Given the description of an element on the screen output the (x, y) to click on. 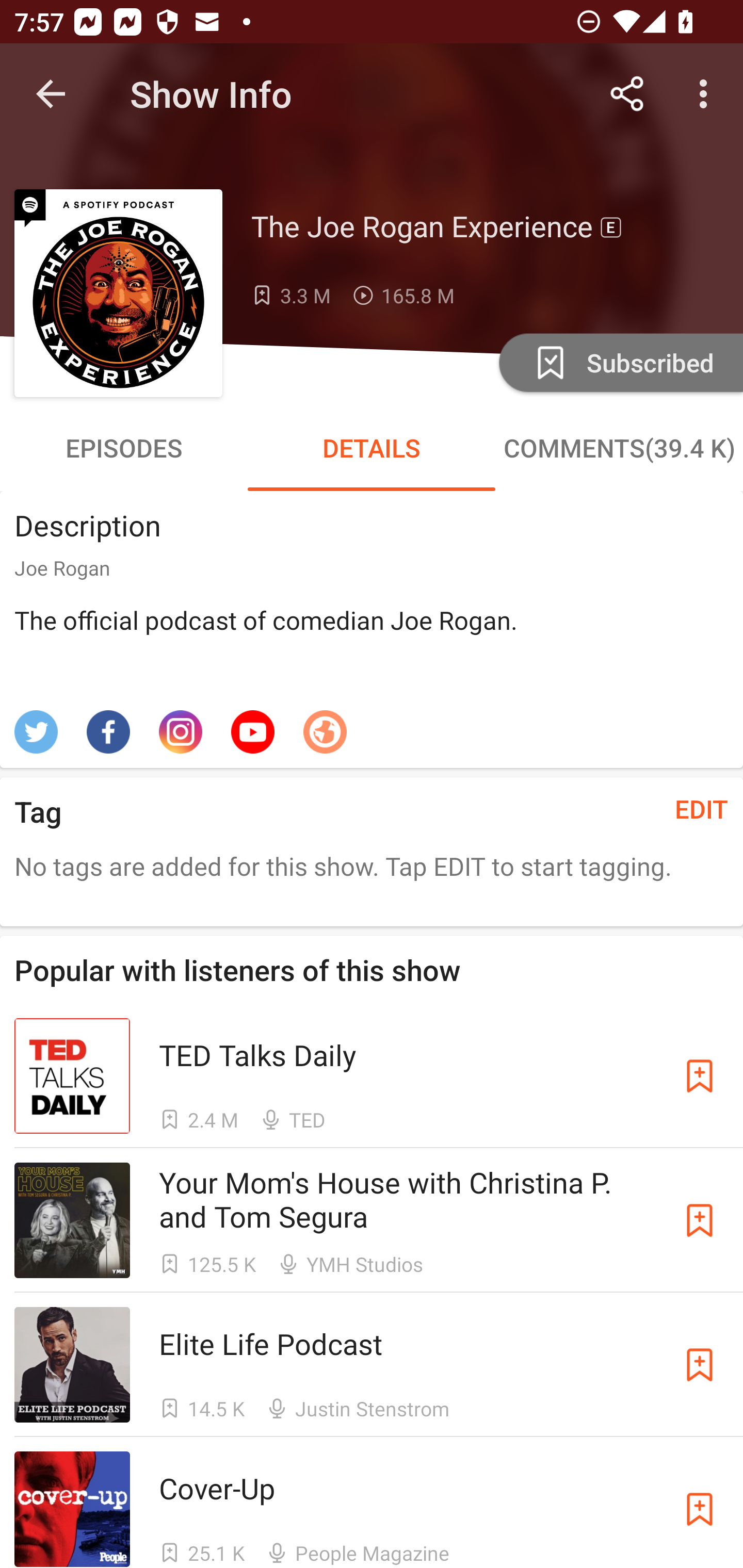
Navigate up (50, 93)
Share (626, 93)
More options (706, 93)
Unsubscribe Subscribed (619, 361)
EPISODES (123, 447)
DETAILS (371, 447)
COMMENTS(39.4 K) (619, 447)
The official podcast of comedian Joe Rogan.

 (371, 656)
EDIT (701, 808)
Subscribe (699, 1075)
Subscribe (699, 1219)
